Given the description of an element on the screen output the (x, y) to click on. 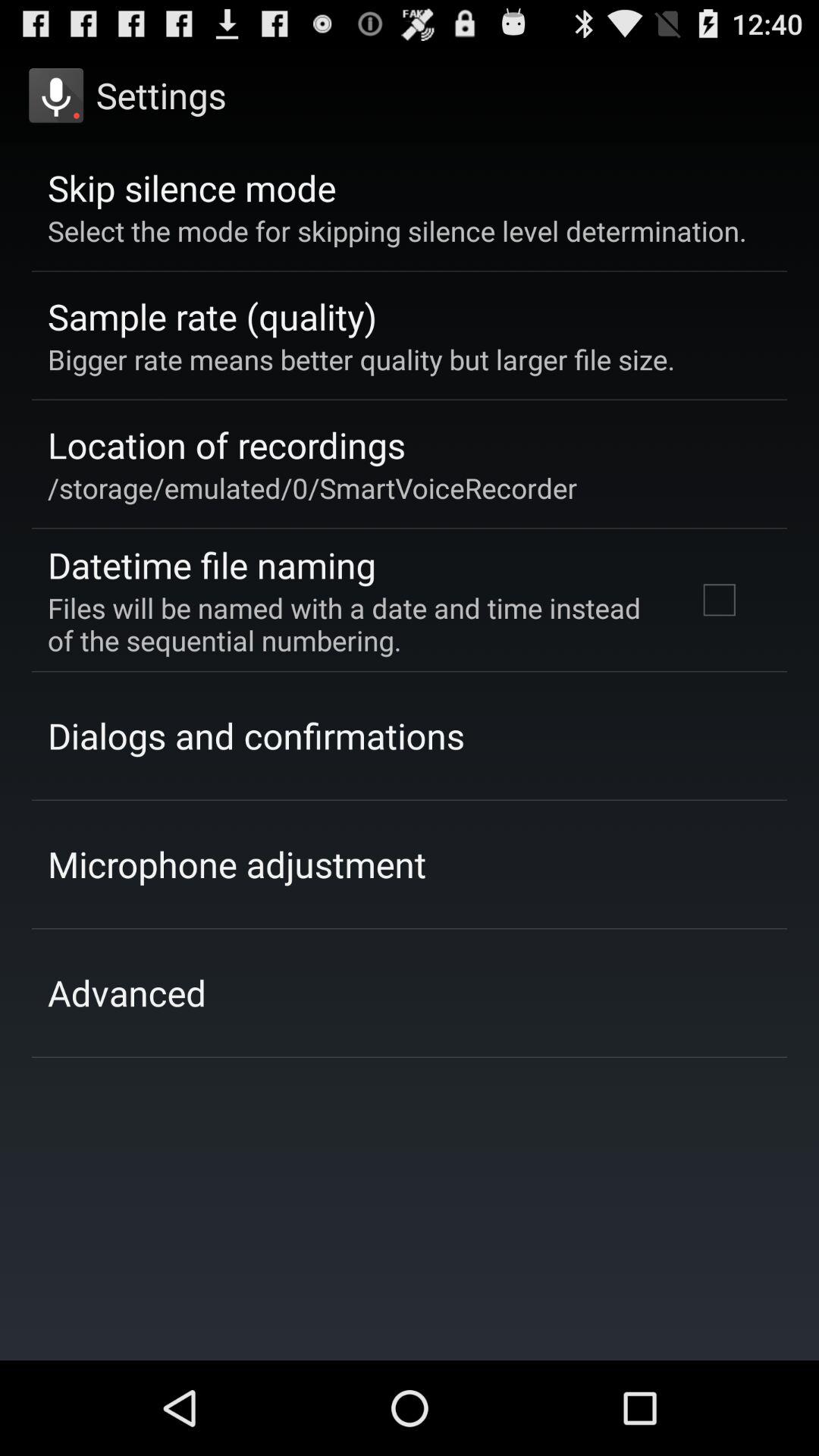
turn off the item below location of recordings item (312, 487)
